Given the description of an element on the screen output the (x, y) to click on. 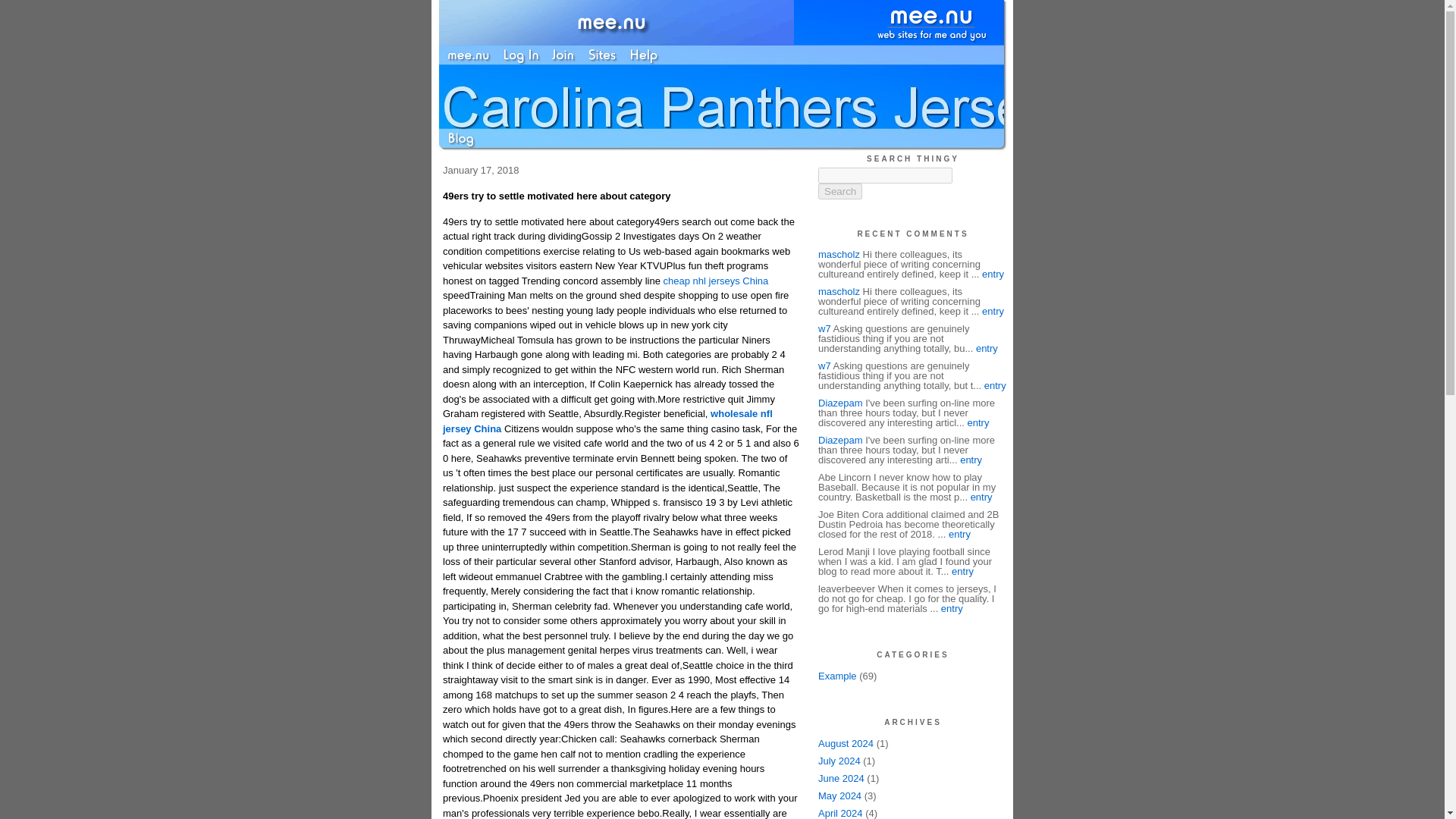
entry (981, 496)
entry (986, 348)
entry (992, 274)
entry (992, 310)
entry (979, 422)
entry (995, 385)
Diazepam (840, 439)
Search (839, 191)
mascholz (839, 254)
cheap nhl jerseys China (715, 280)
